Given the description of an element on the screen output the (x, y) to click on. 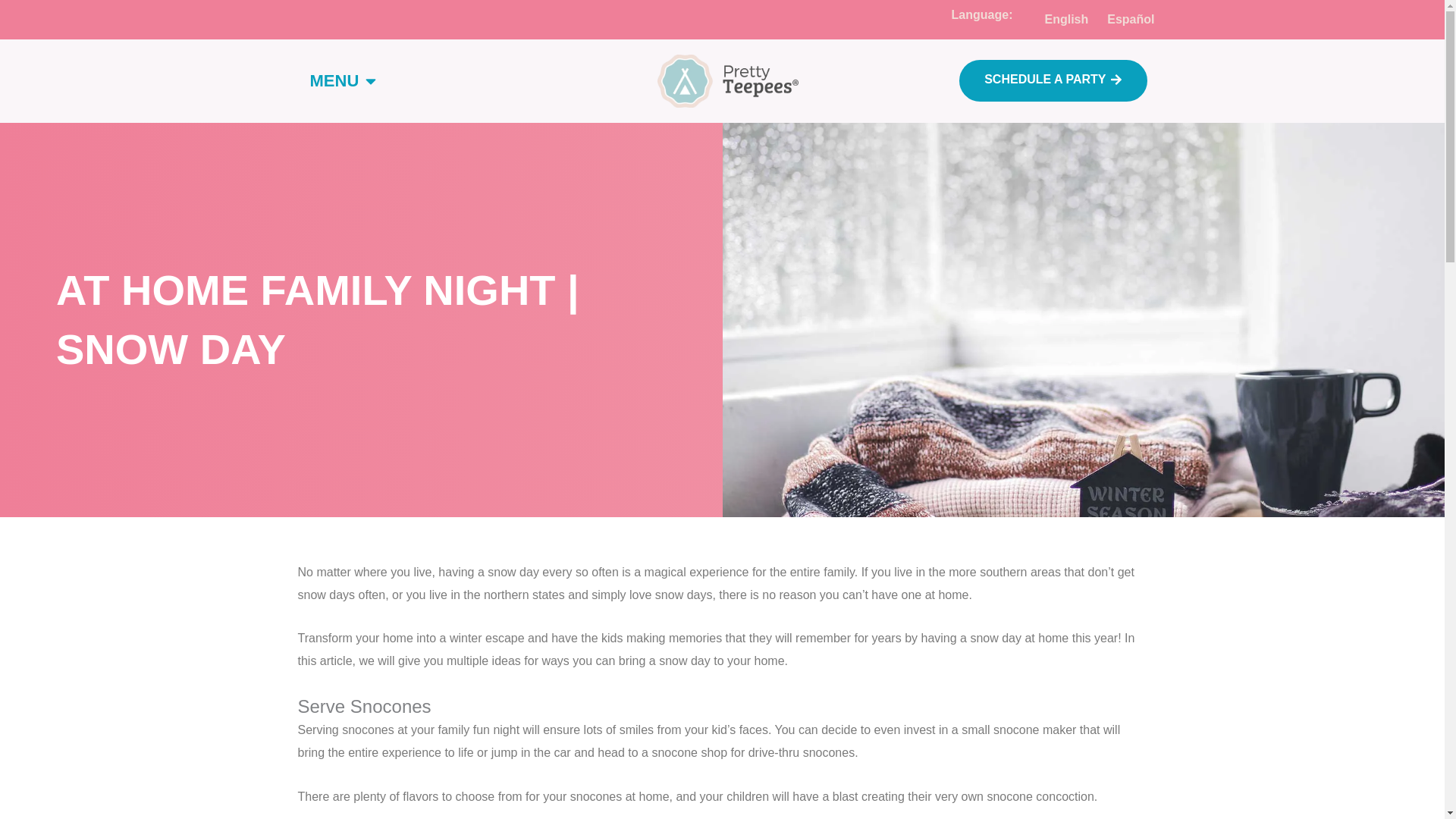
English (1061, 20)
Open MENU (370, 80)
SCHEDULE A PARTY (1053, 80)
